Given the description of an element on the screen output the (x, y) to click on. 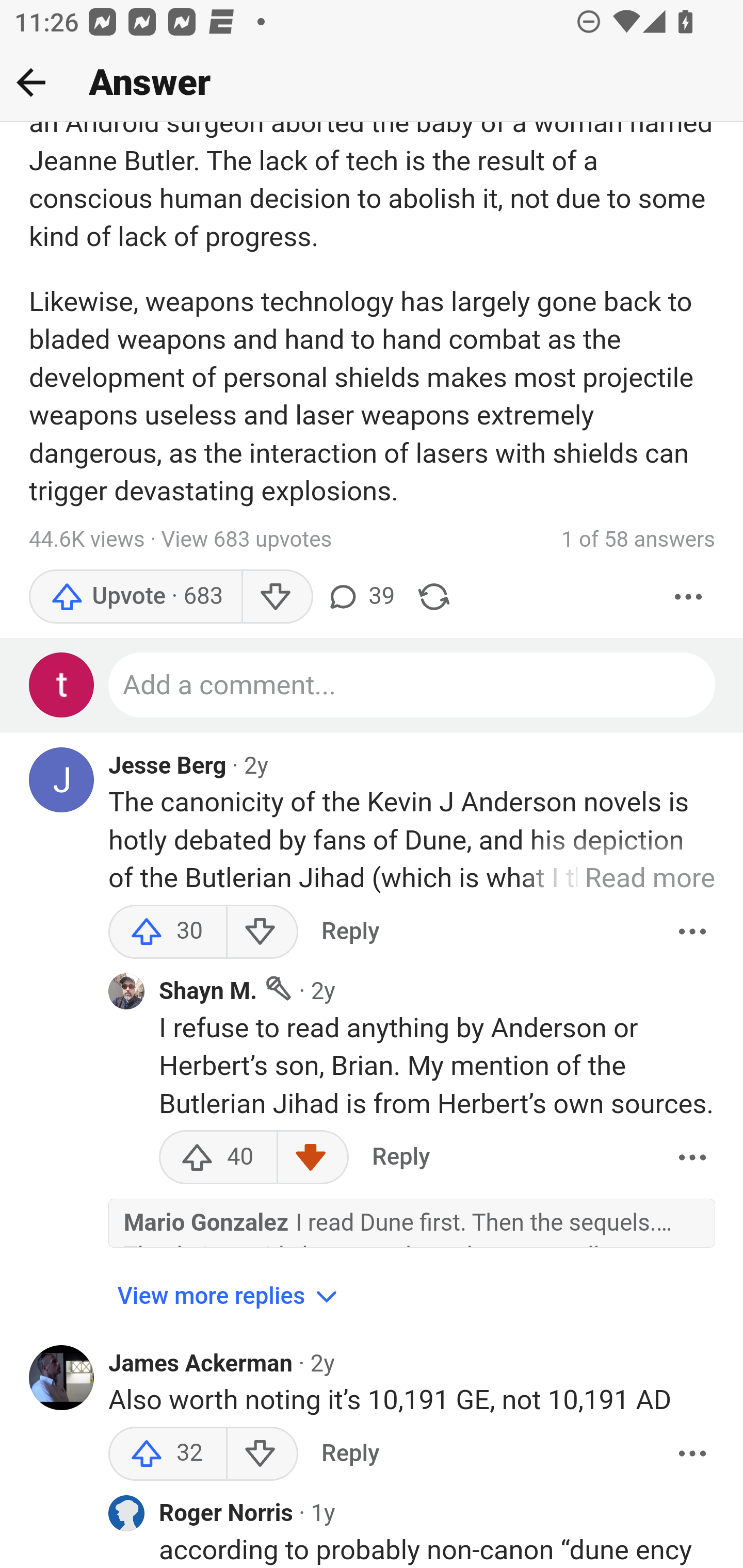
Back (30, 82)
View 683 upvotes (246, 539)
1 of 58 answers (637, 539)
Upvote (135, 597)
Downvote (277, 597)
39 comments (360, 597)
Share (434, 597)
More (688, 597)
Profile photo for Test Appium (61, 685)
Add a comment... (412, 685)
Profile photo for Jesse Berg (61, 780)
Jesse Berg (167, 766)
30 upvotes (167, 932)
Downvote (261, 932)
Reply (350, 932)
More (691, 932)
Profile photo for Shayn M. (126, 991)
Shayn M. (208, 992)
40 upvotes (218, 1157)
Downvote (312, 1157)
Reply (400, 1157)
More (691, 1157)
View more replies (230, 1297)
Profile photo for James Ackerman (61, 1378)
James Ackerman (201, 1363)
32 upvotes (167, 1454)
Downvote (261, 1454)
Reply (350, 1454)
More (691, 1454)
Profile photo for Roger Norris (126, 1513)
Roger Norris (226, 1514)
